Given the description of an element on the screen output the (x, y) to click on. 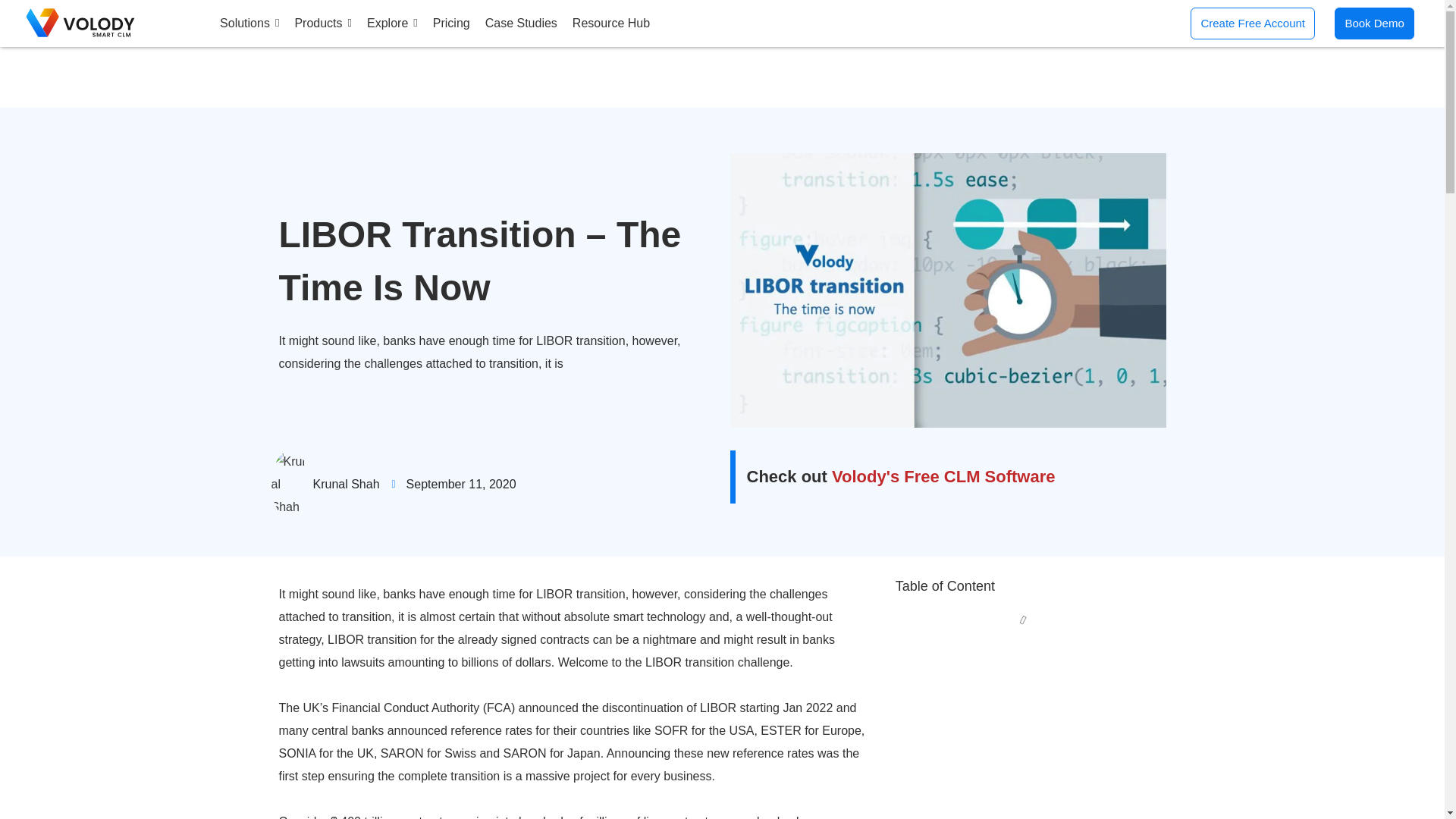
Products (323, 22)
Explore (391, 22)
Case Studies (520, 22)
Pricing (451, 22)
Resource Hub (610, 22)
Solutions (249, 22)
